Given the description of an element on the screen output the (x, y) to click on. 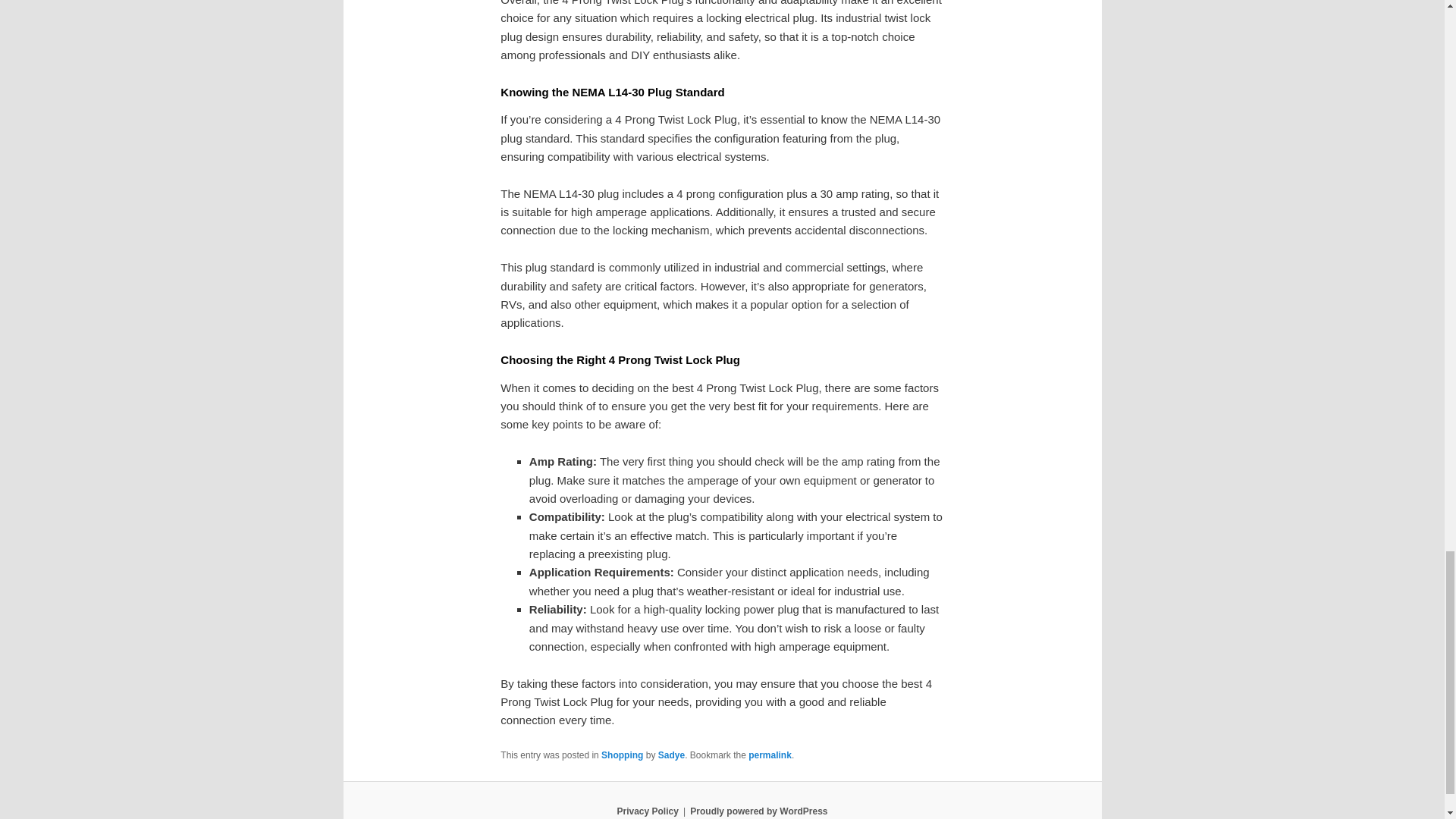
Privacy Policy (646, 810)
permalink (770, 755)
Sadye (671, 755)
Shopping (622, 755)
Semantic Personal Publishing Platform (758, 810)
Proudly powered by WordPress (758, 810)
